Given the description of an element on the screen output the (x, y) to click on. 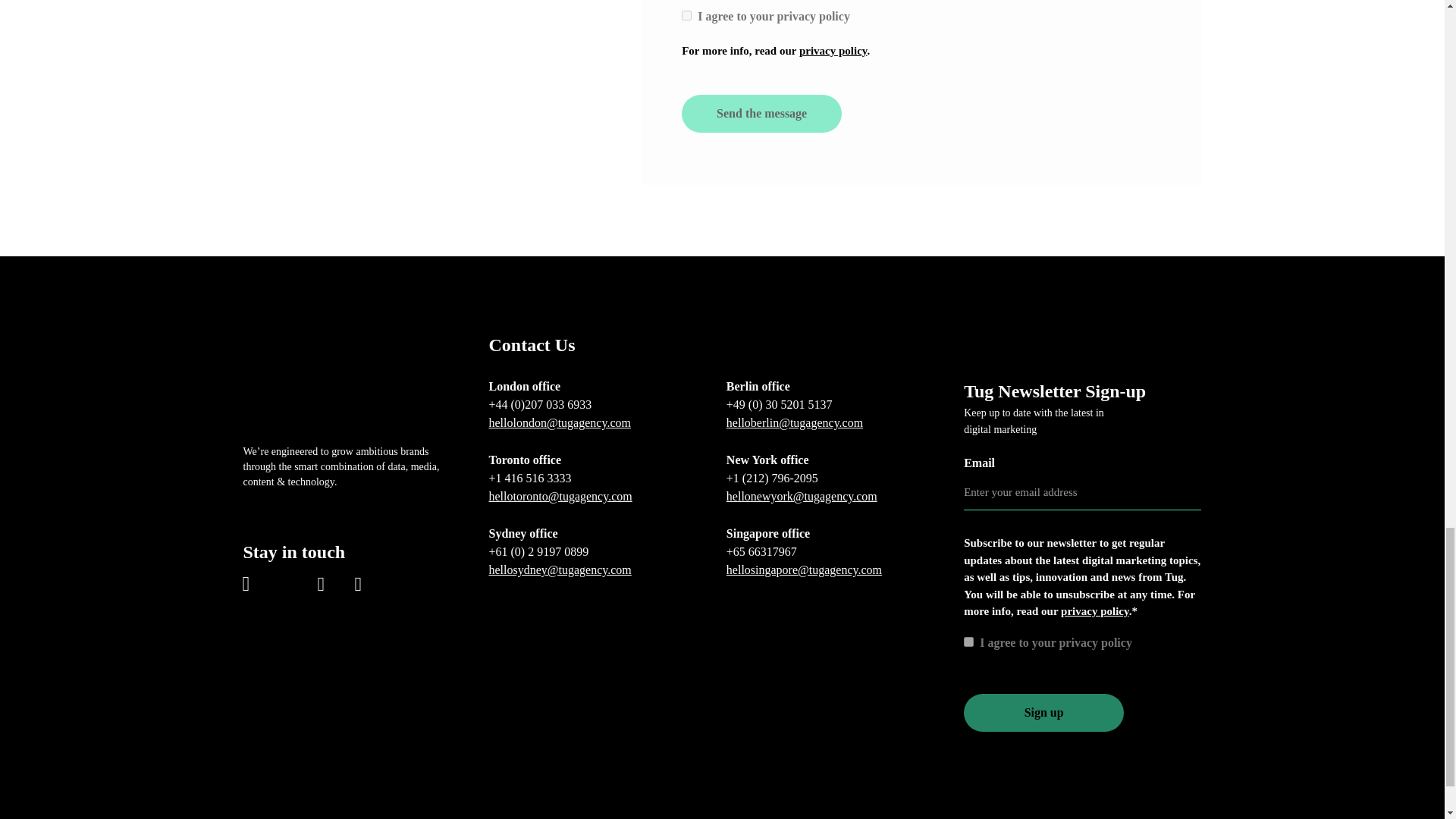
I agree to your privacy policy (686, 15)
privacy policy (833, 50)
Send the message (761, 113)
I agree to your privacy policy (968, 642)
